Given the description of an element on the screen output the (x, y) to click on. 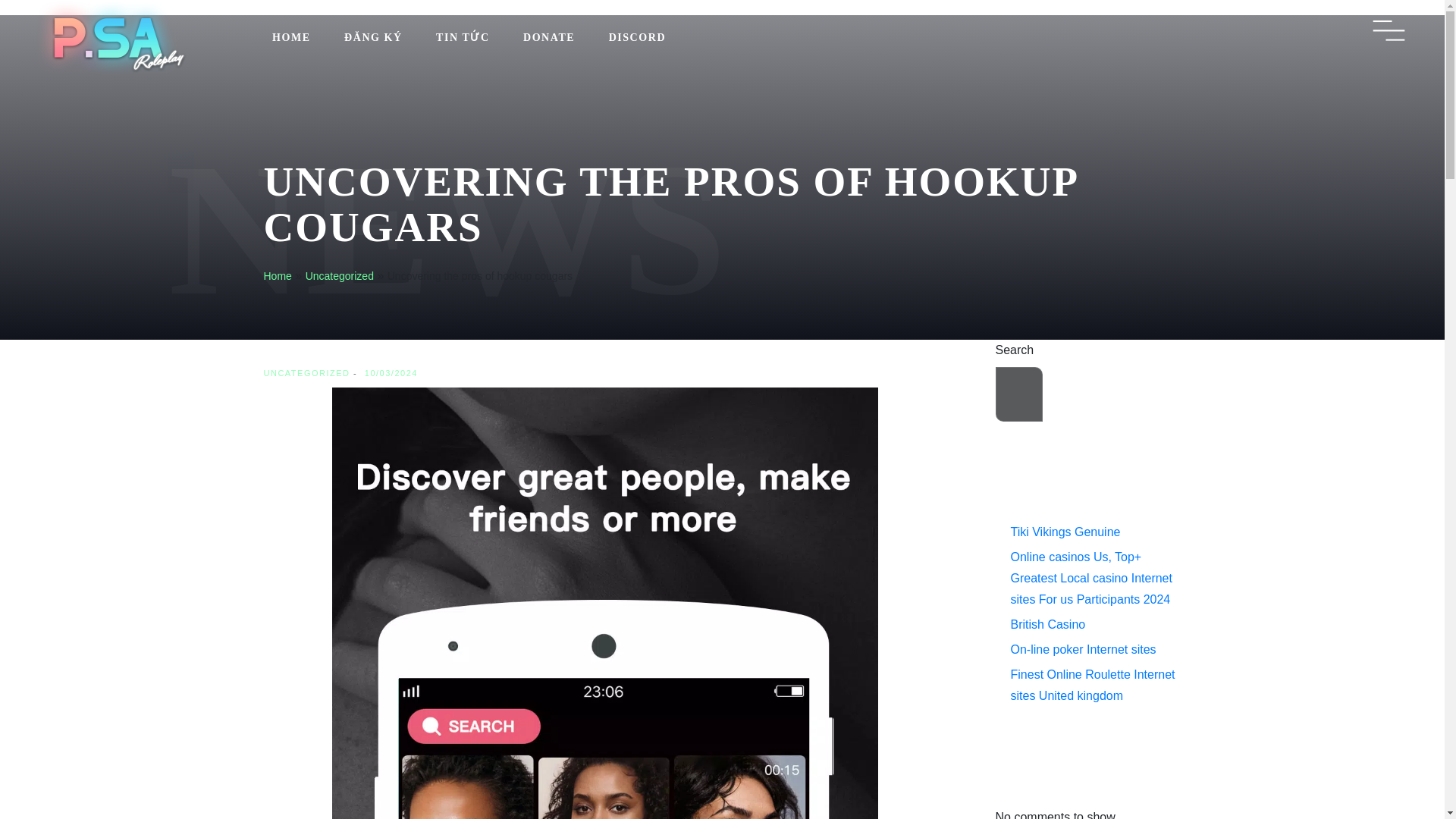
Tiki Vikings Genuine (1064, 531)
Finest Online Roulette Internet sites United kingdom (1092, 684)
Home (277, 275)
UNCATEGORIZED (306, 372)
SEARCH (1114, 393)
Home (277, 275)
British Casino (1047, 624)
Uncovering the pros of hookup cougars (479, 275)
Uncategorized (339, 275)
DISCORD (636, 37)
On-line poker Internet sites (1083, 649)
